Given the description of an element on the screen output the (x, y) to click on. 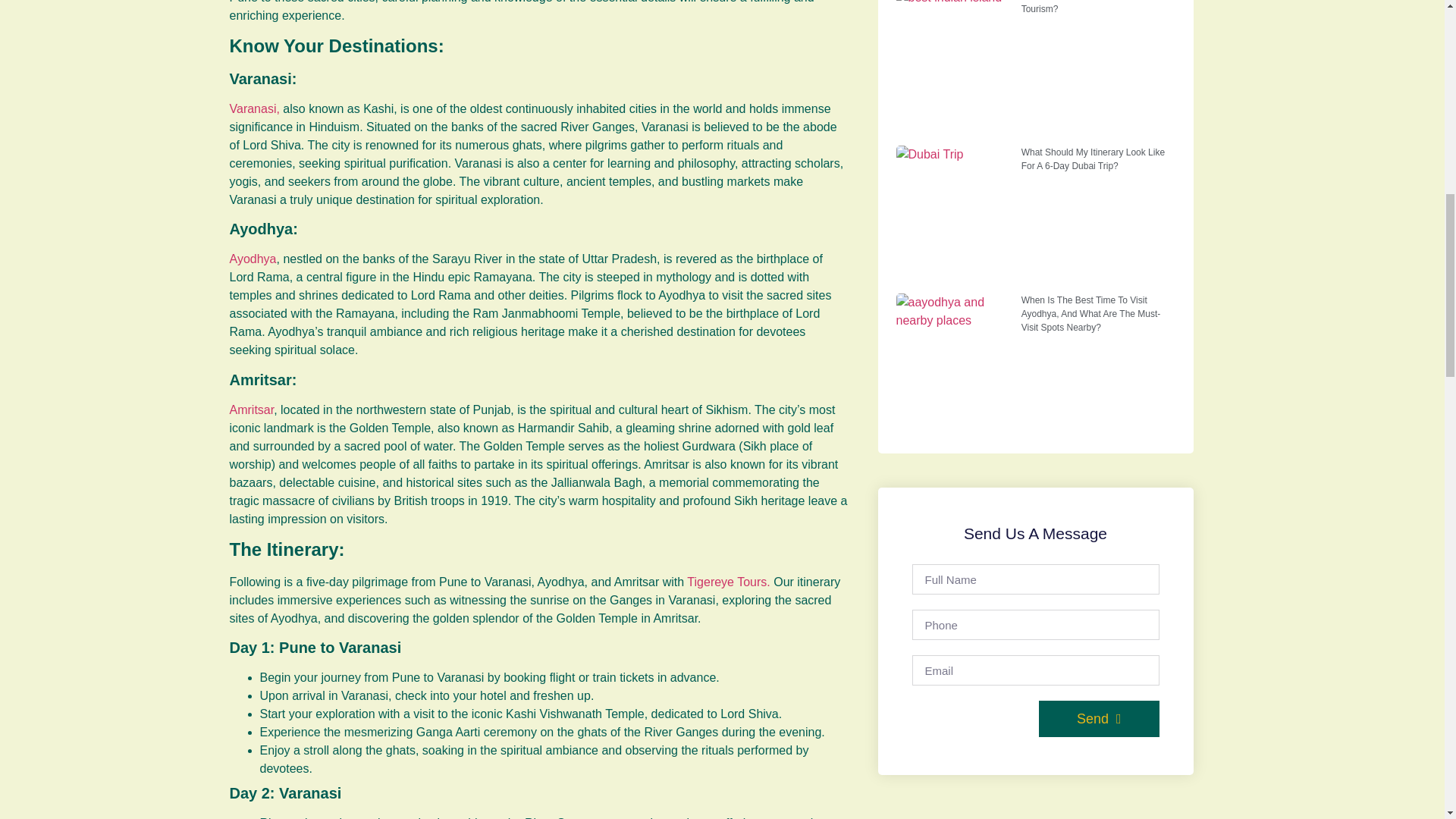
Varanasi, (253, 108)
Tigereye Tours. (728, 581)
Send (1098, 719)
What Should My Itinerary Look Like For A 6-Day Dubai Trip? (1093, 159)
Amritsar (250, 409)
Which Is The Best Indian Island For Tourism? (1094, 7)
Ayodhya (252, 258)
